Given the description of an element on the screen output the (x, y) to click on. 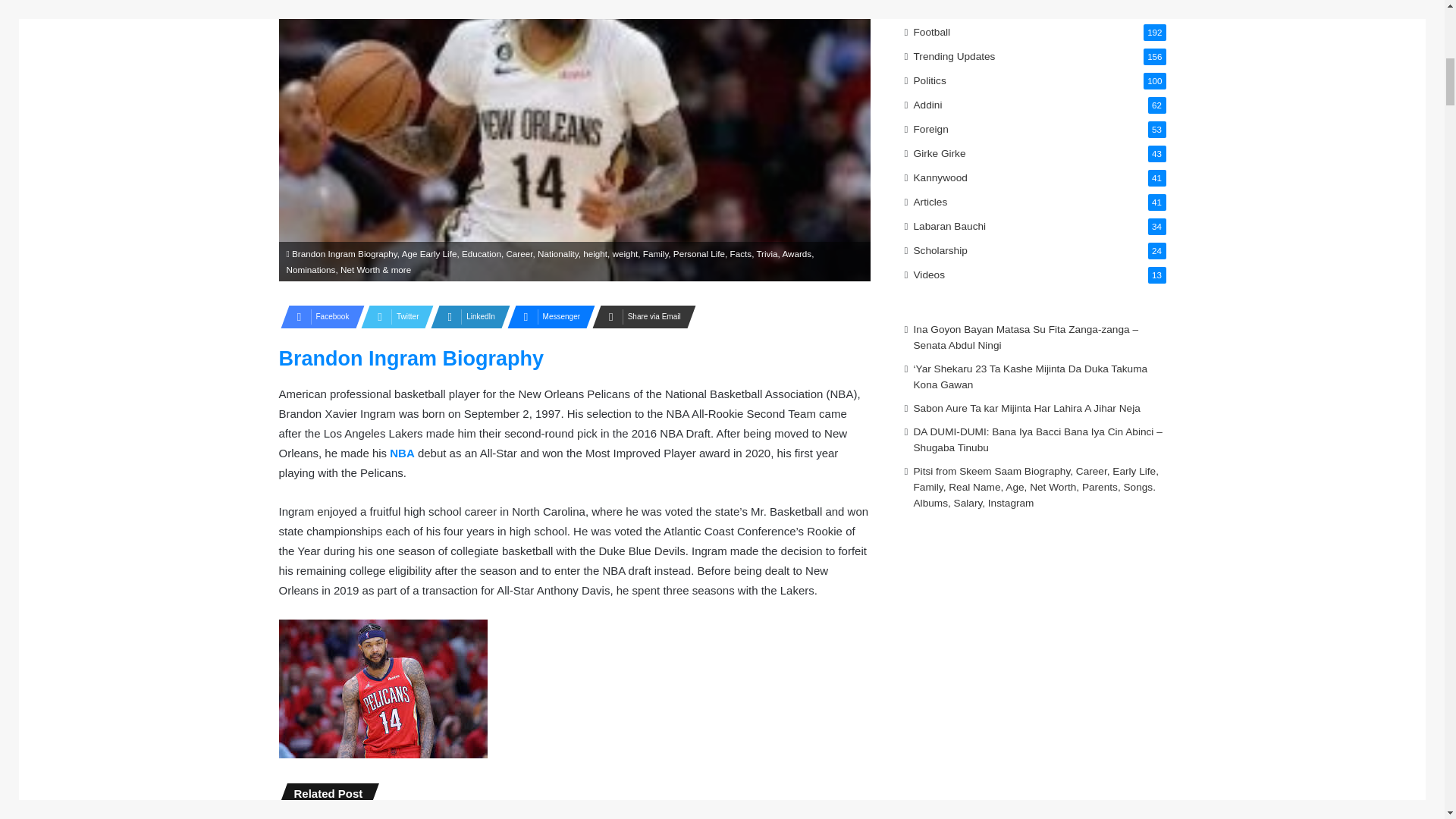
Facebook (318, 316)
Messenger (546, 316)
Messenger (546, 316)
Twitter (393, 316)
Share via Email (639, 316)
NBA (402, 452)
Facebook (318, 316)
Twitter (393, 316)
Brandon Ingram Biography (411, 358)
LinkedIn (465, 316)
Share via Email (639, 316)
LinkedIn (465, 316)
